Given the description of an element on the screen output the (x, y) to click on. 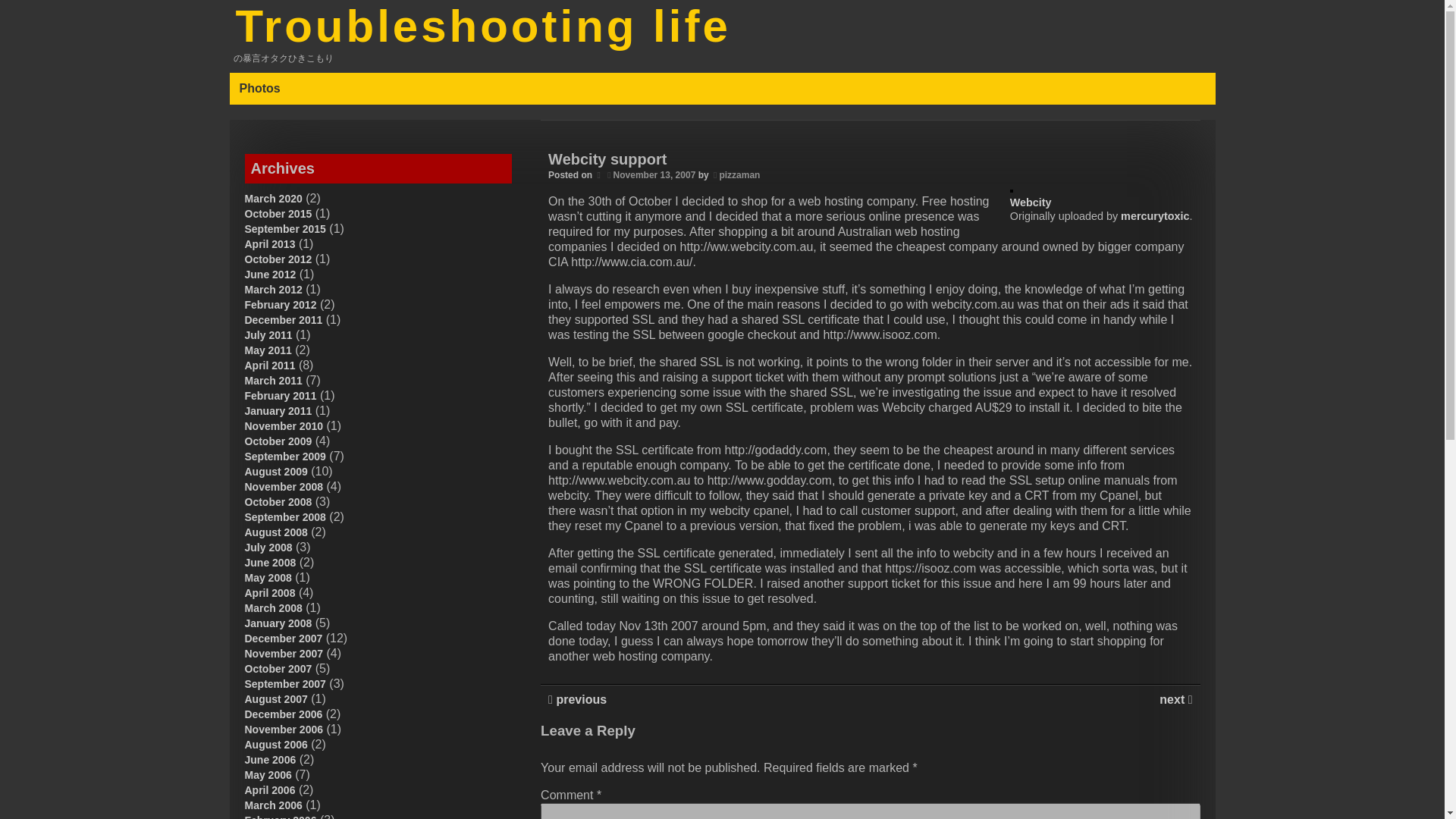
March 2020 (272, 198)
Friends Only (1003, 726)
December 2011 (282, 319)
Friends Only (1003, 726)
September 2015 (284, 228)
April 2013 (269, 244)
pizzaman (739, 174)
March 2012 (272, 289)
August 2009 (275, 471)
isooz.com (571, 726)
